Given the description of an element on the screen output the (x, y) to click on. 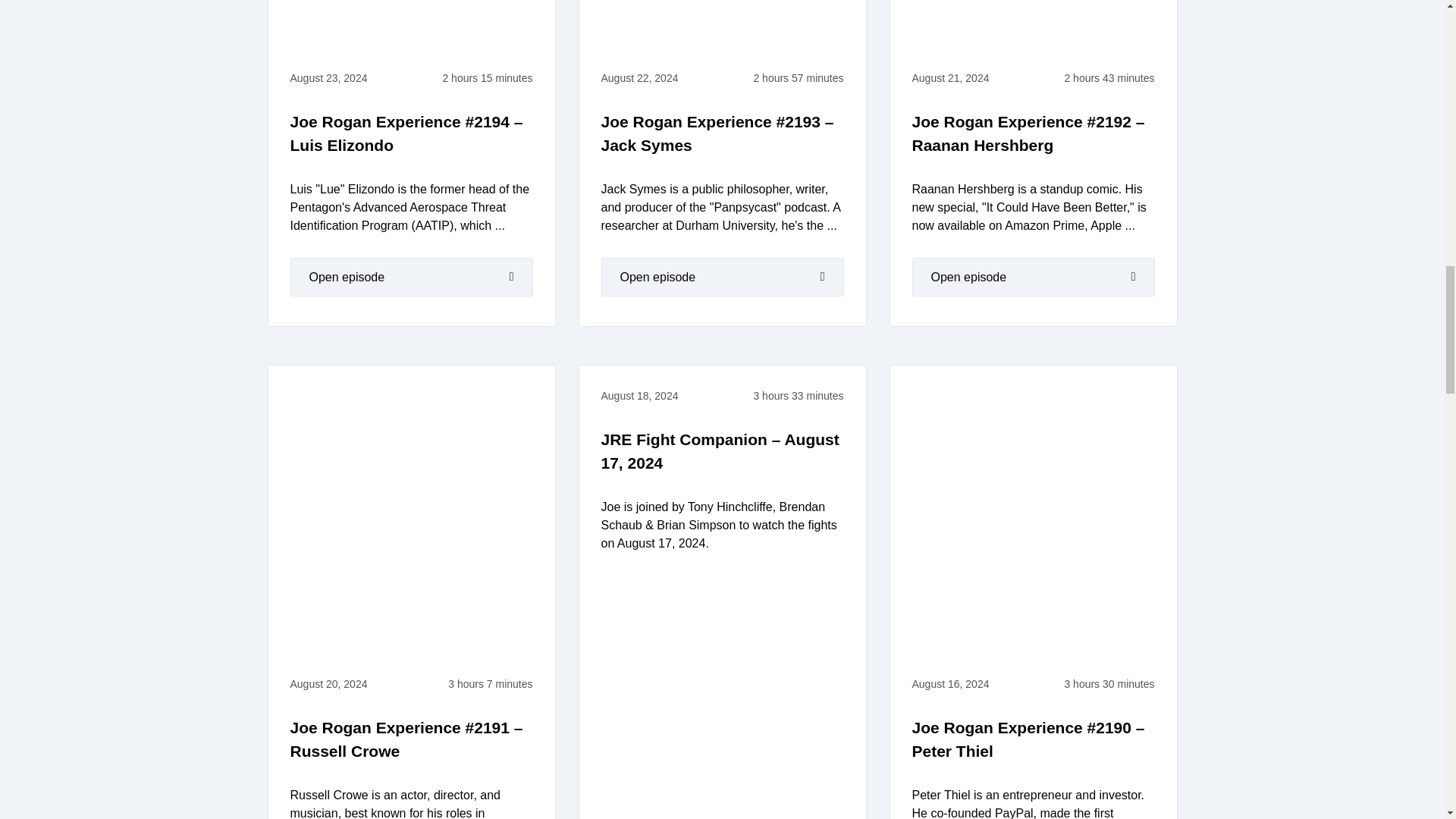
Open episode (1032, 277)
Open episode (721, 277)
Open episode (410, 277)
